Given the description of an element on the screen output the (x, y) to click on. 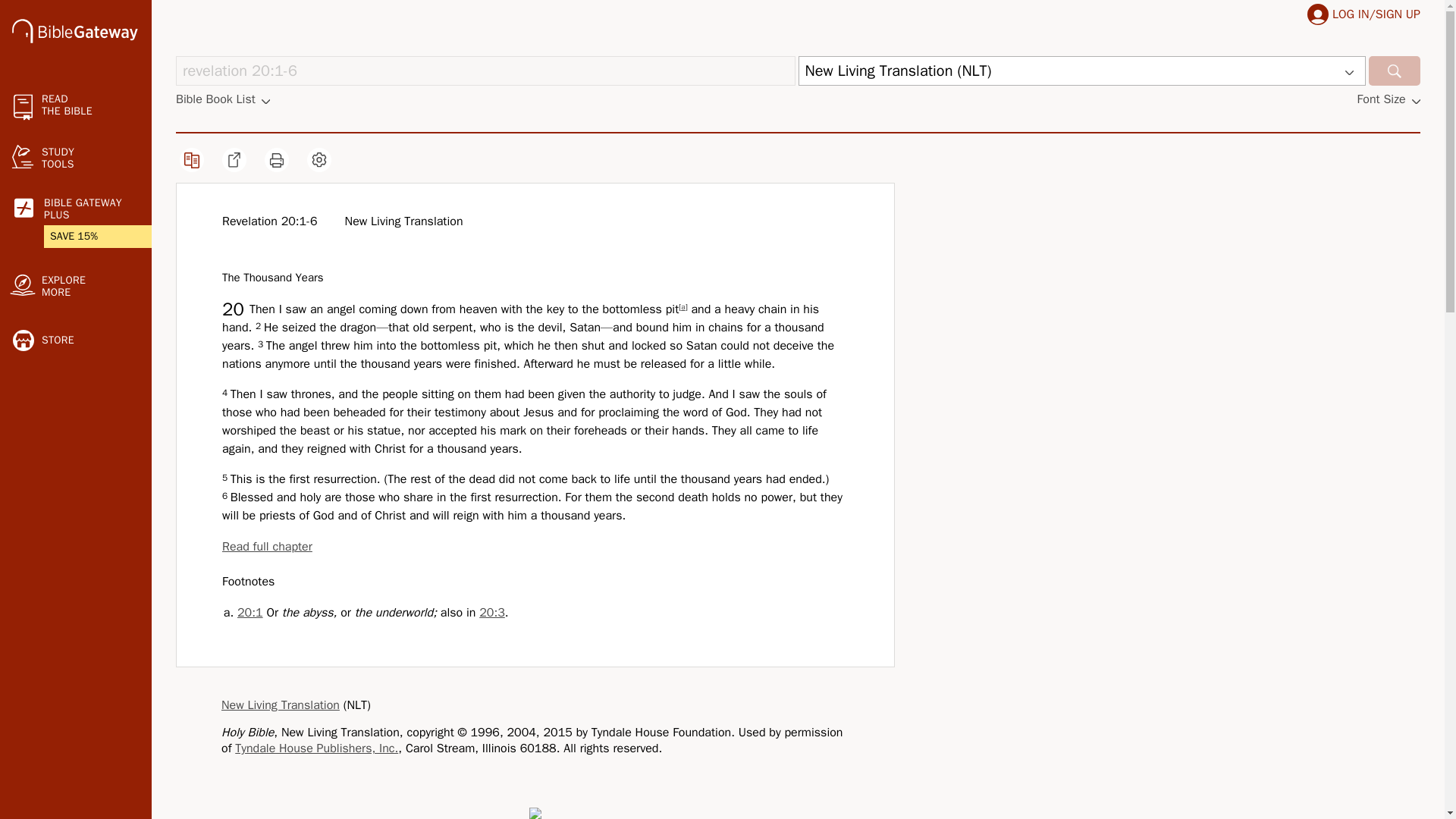
20:3 (492, 612)
Bible Book List (222, 99)
revelation 20:1-6 (485, 70)
revelation 20:1-6 (485, 70)
account (1317, 14)
20:1 (250, 612)
New Living Translation (280, 704)
Tyndale House Publishers, Inc. (315, 748)
Read full chapter (267, 546)
Go to Revelation 20:1 (250, 612)
